Given the description of an element on the screen output the (x, y) to click on. 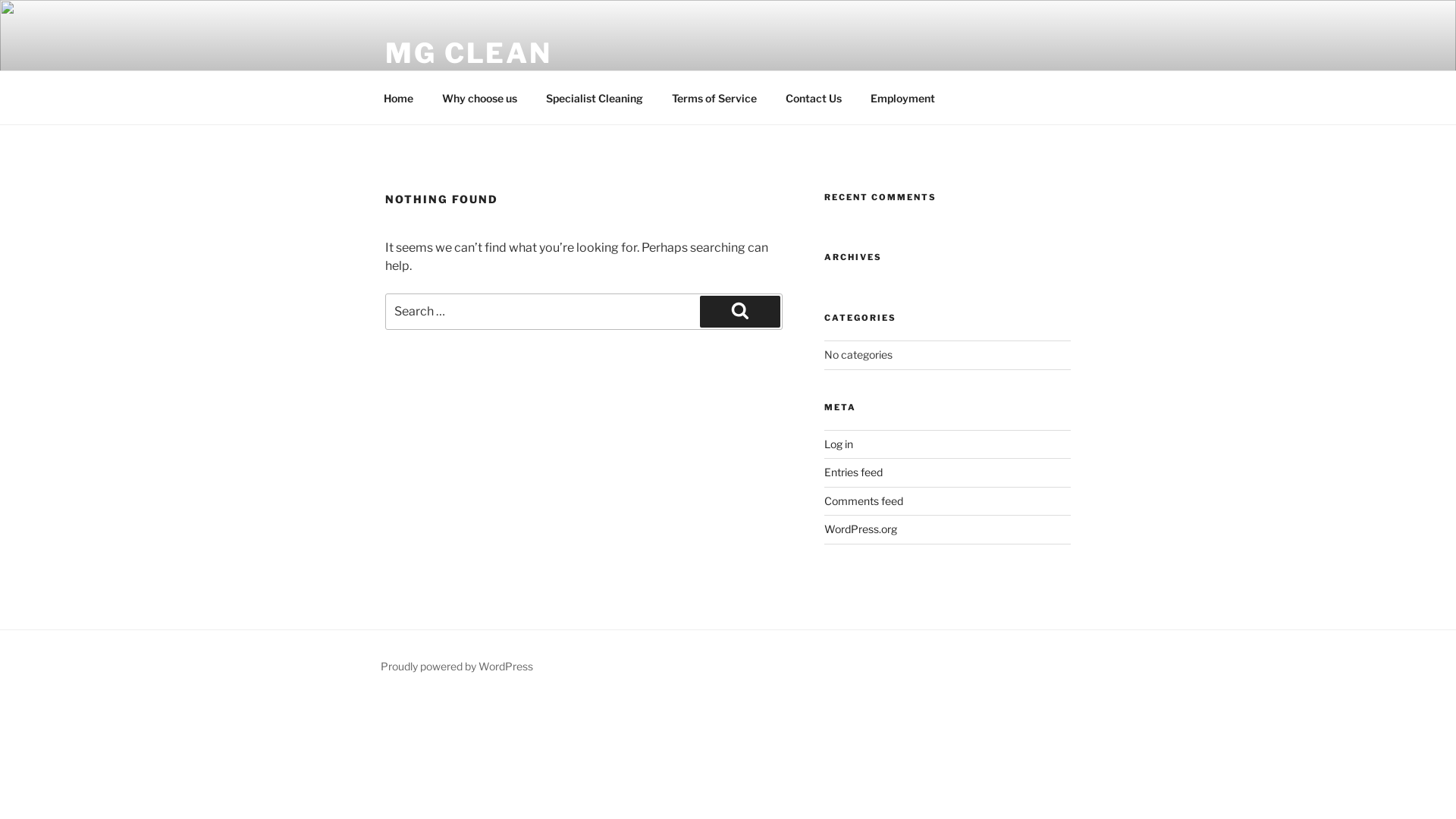
Search Element type: text (739, 311)
Entries feed Element type: text (853, 471)
Specialist Cleaning Element type: text (593, 97)
Employment Element type: text (901, 97)
Proudly powered by WordPress Element type: text (456, 665)
WordPress.org Element type: text (860, 528)
Why choose us Element type: text (479, 97)
Comments feed Element type: text (863, 500)
Terms of Service Element type: text (713, 97)
Log in Element type: text (838, 443)
Contact Us Element type: text (812, 97)
Home Element type: text (398, 97)
MG CLEAN Element type: text (468, 52)
